Given the description of an element on the screen output the (x, y) to click on. 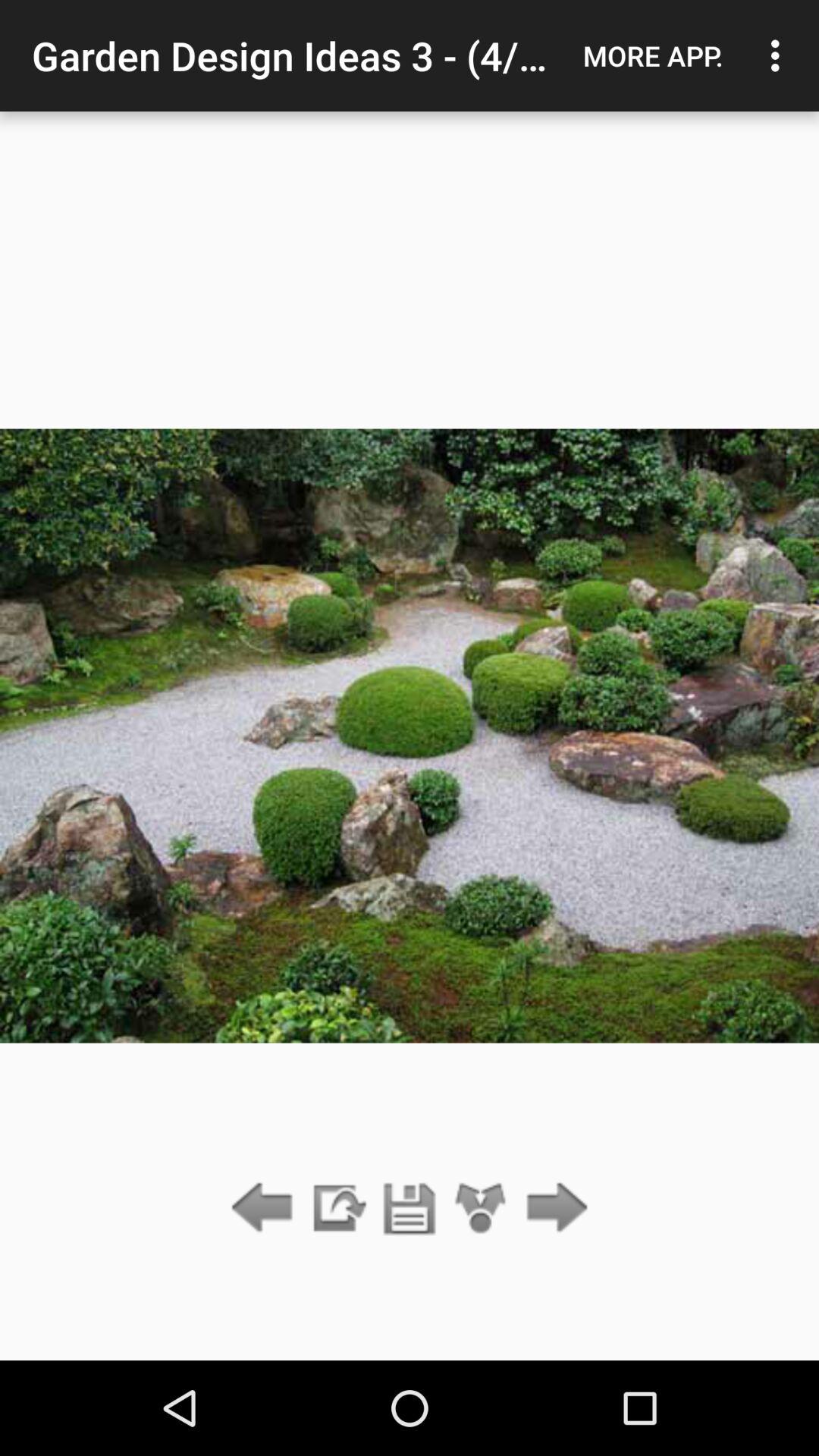
go to slideshow (337, 1208)
